Given the description of an element on the screen output the (x, y) to click on. 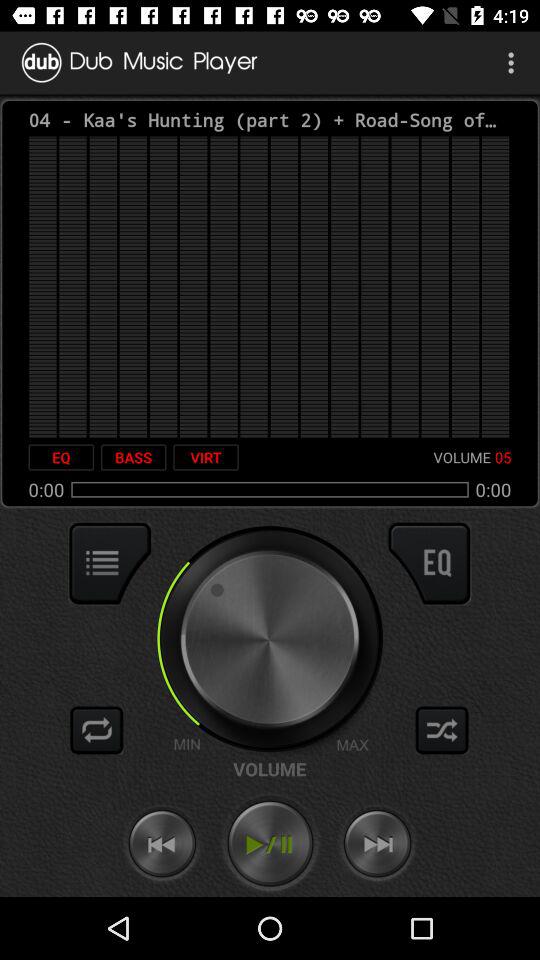
push for equalizer (429, 563)
